Given the description of an element on the screen output the (x, y) to click on. 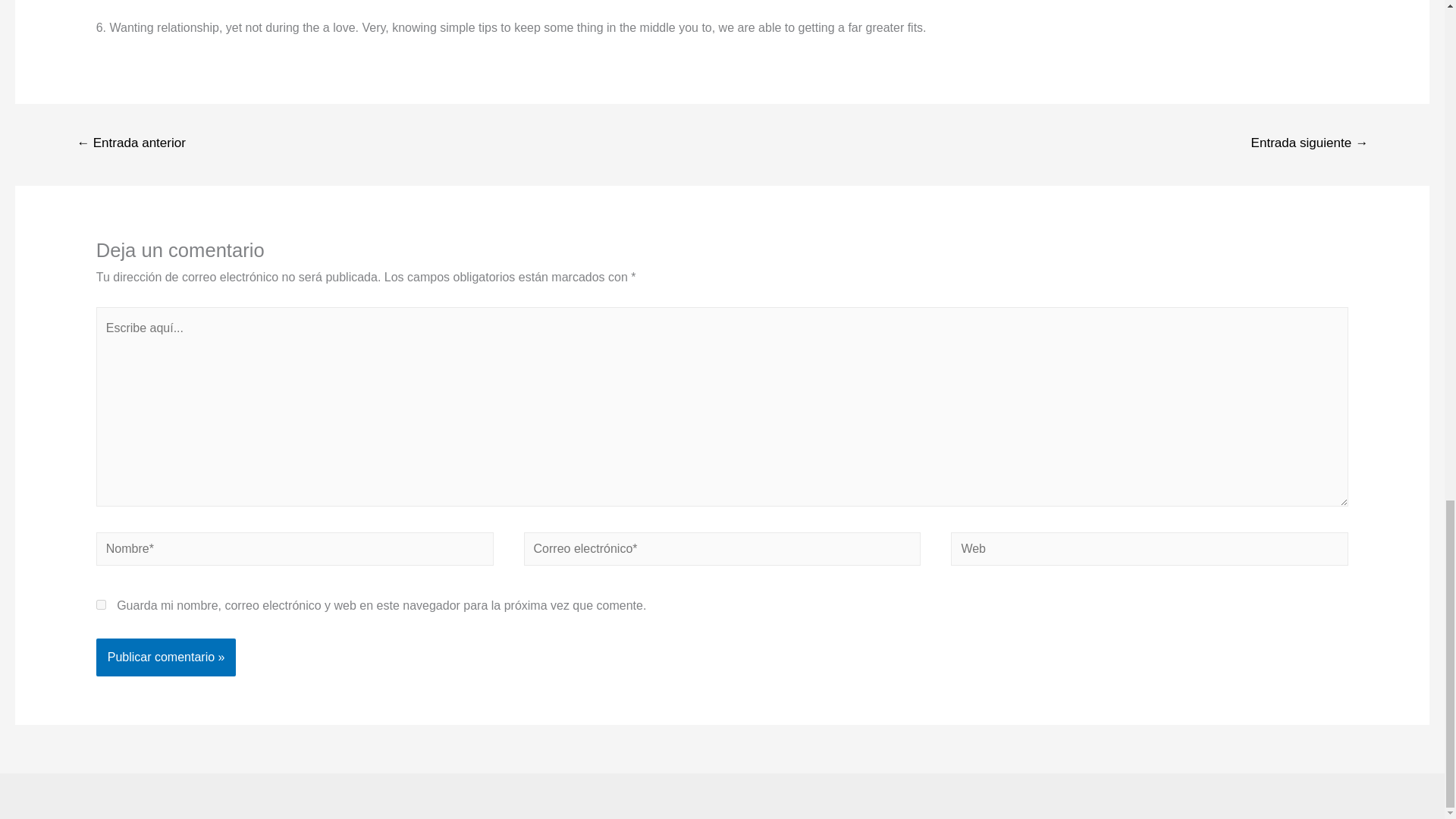
yes (101, 604)
